Given the description of an element on the screen output the (x, y) to click on. 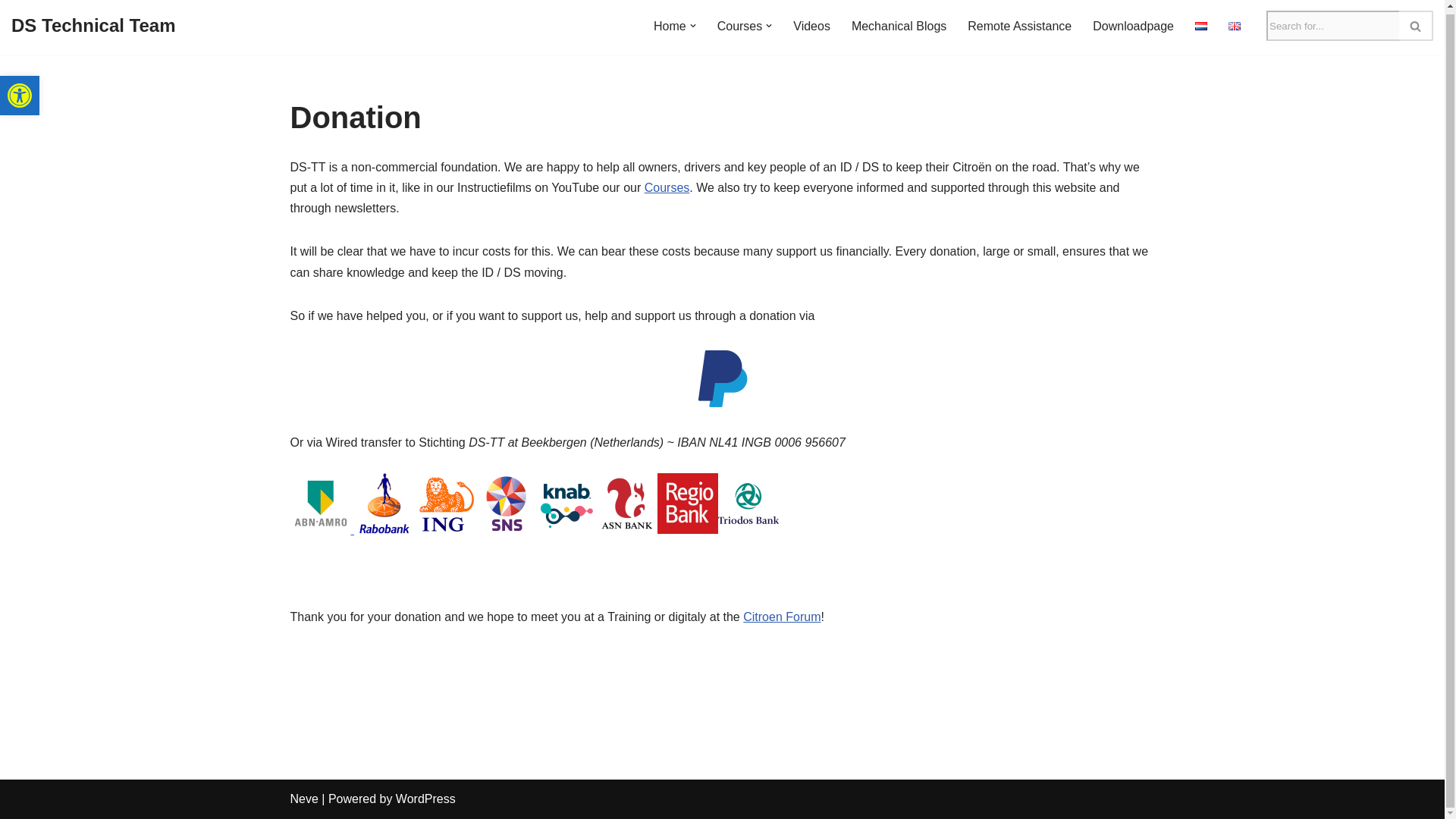
Mechanical Blogs (898, 25)
Downloadpage (1133, 25)
Videos (811, 25)
Home (669, 25)
Remote Assistance (1019, 25)
DS Technical Team (93, 25)
Courses (19, 92)
Toegankelijkheid (739, 25)
Toegankelijkheid (19, 92)
